Given the description of an element on the screen output the (x, y) to click on. 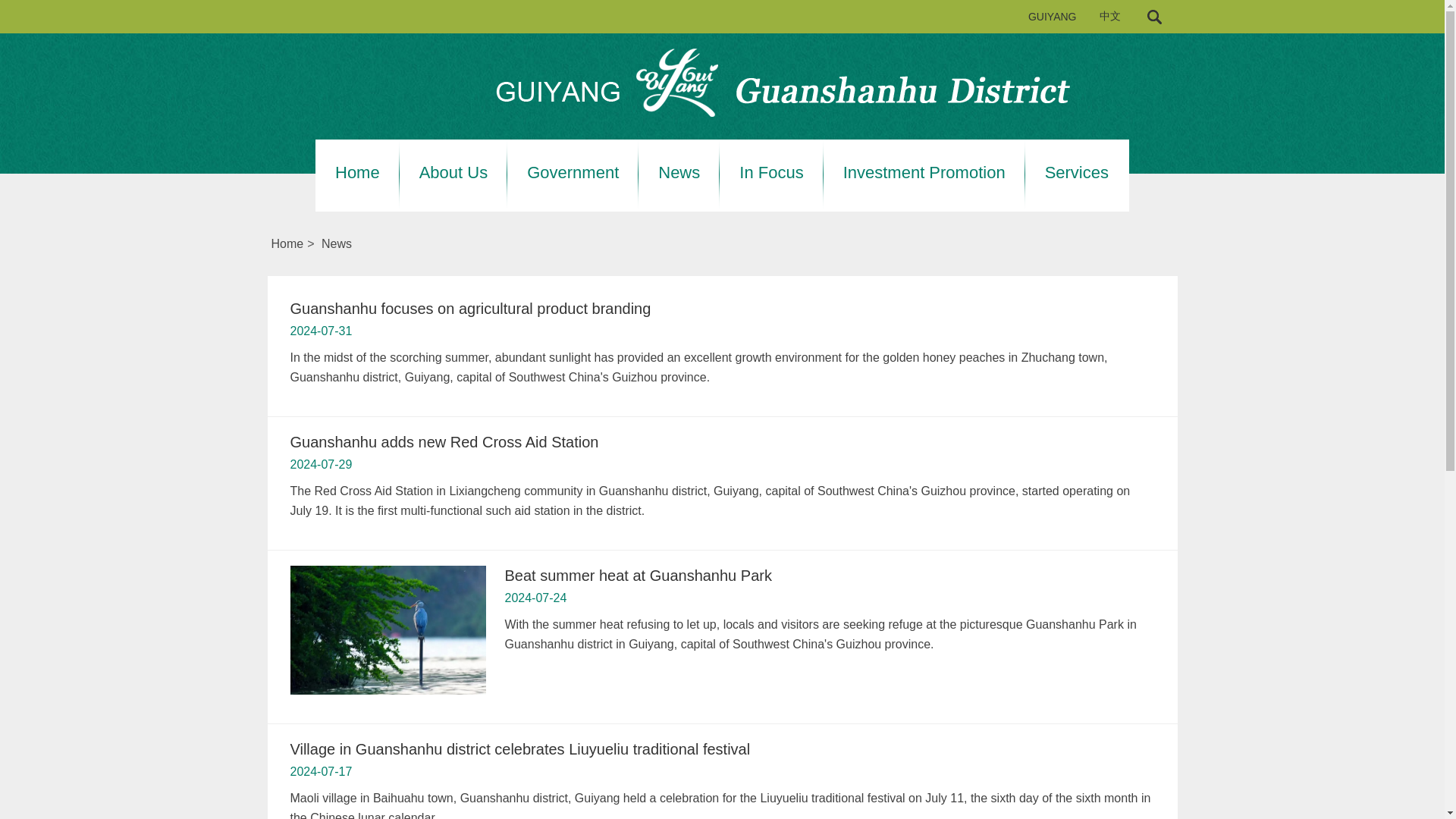
Home (357, 172)
Services (1076, 172)
News (336, 243)
About Us (453, 172)
Government (572, 172)
In Focus (771, 172)
Guanshanhu focuses on agricultural product branding (469, 308)
GUIYANG (1052, 16)
News (679, 172)
Home (287, 243)
